Given the description of an element on the screen output the (x, y) to click on. 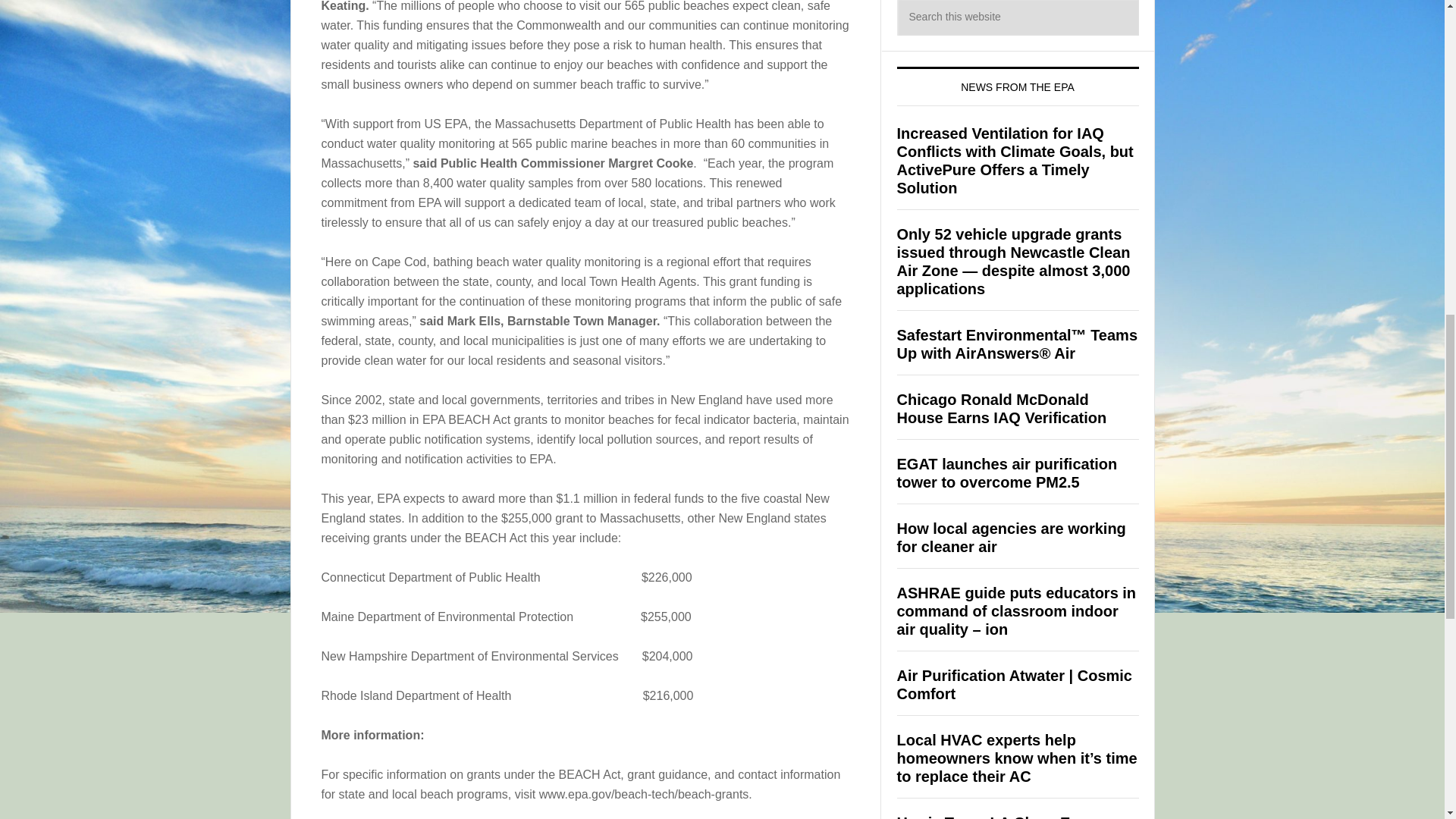
How local agencies are working for cleaner air (1010, 537)
EGAT launches air purification tower to overcome PM2.5 (1006, 472)
Chicago Ronald McDonald House Earns IAQ Verification (1001, 408)
